Given the description of an element on the screen output the (x, y) to click on. 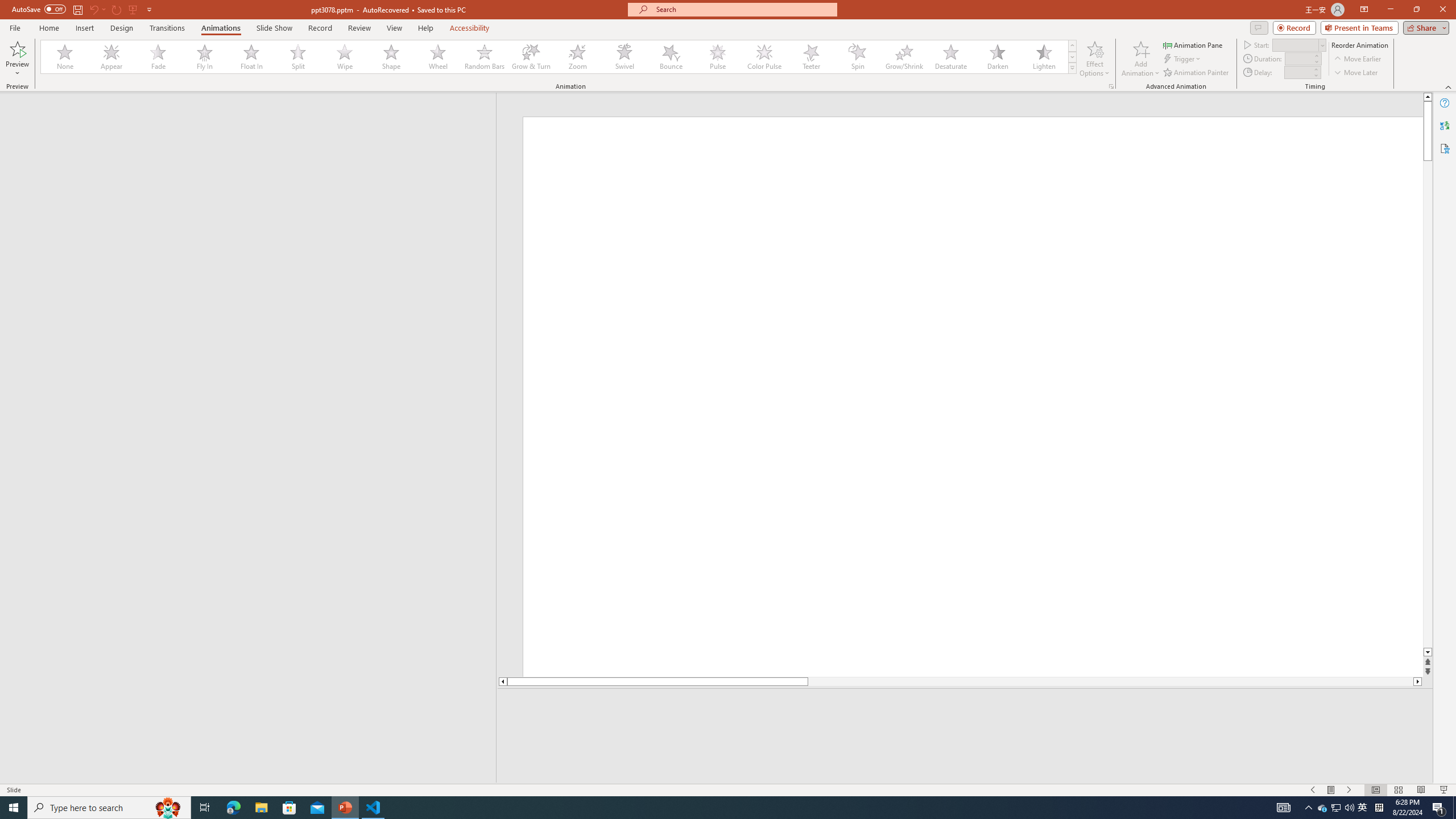
Slide Show Previous On (1313, 790)
